Given the description of an element on the screen output the (x, y) to click on. 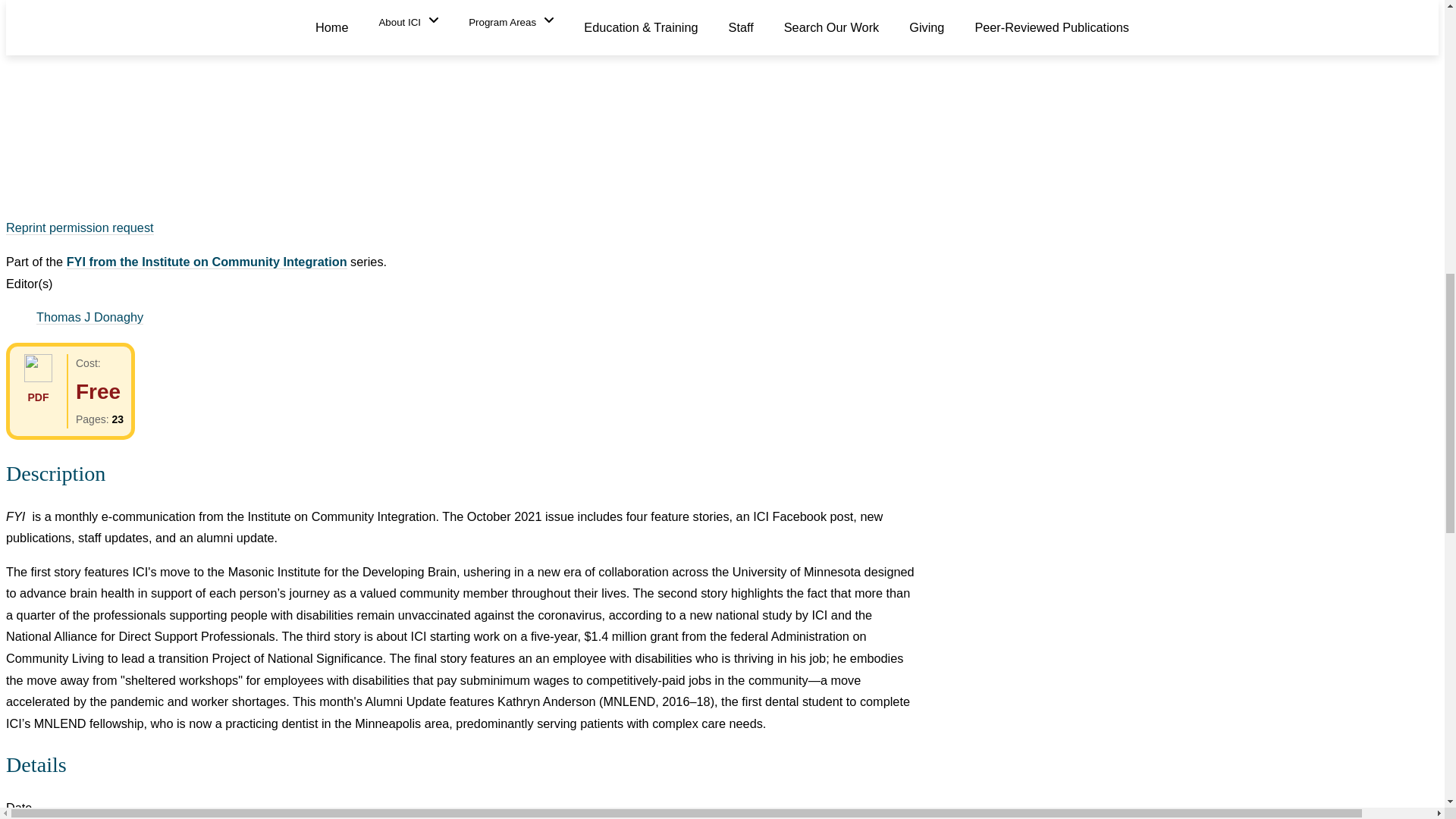
FYI from the Institute on Community Integration (206, 261)
Thomas J Donaghy (89, 317)
Reprint permission request (79, 227)
